Given the description of an element on the screen output the (x, y) to click on. 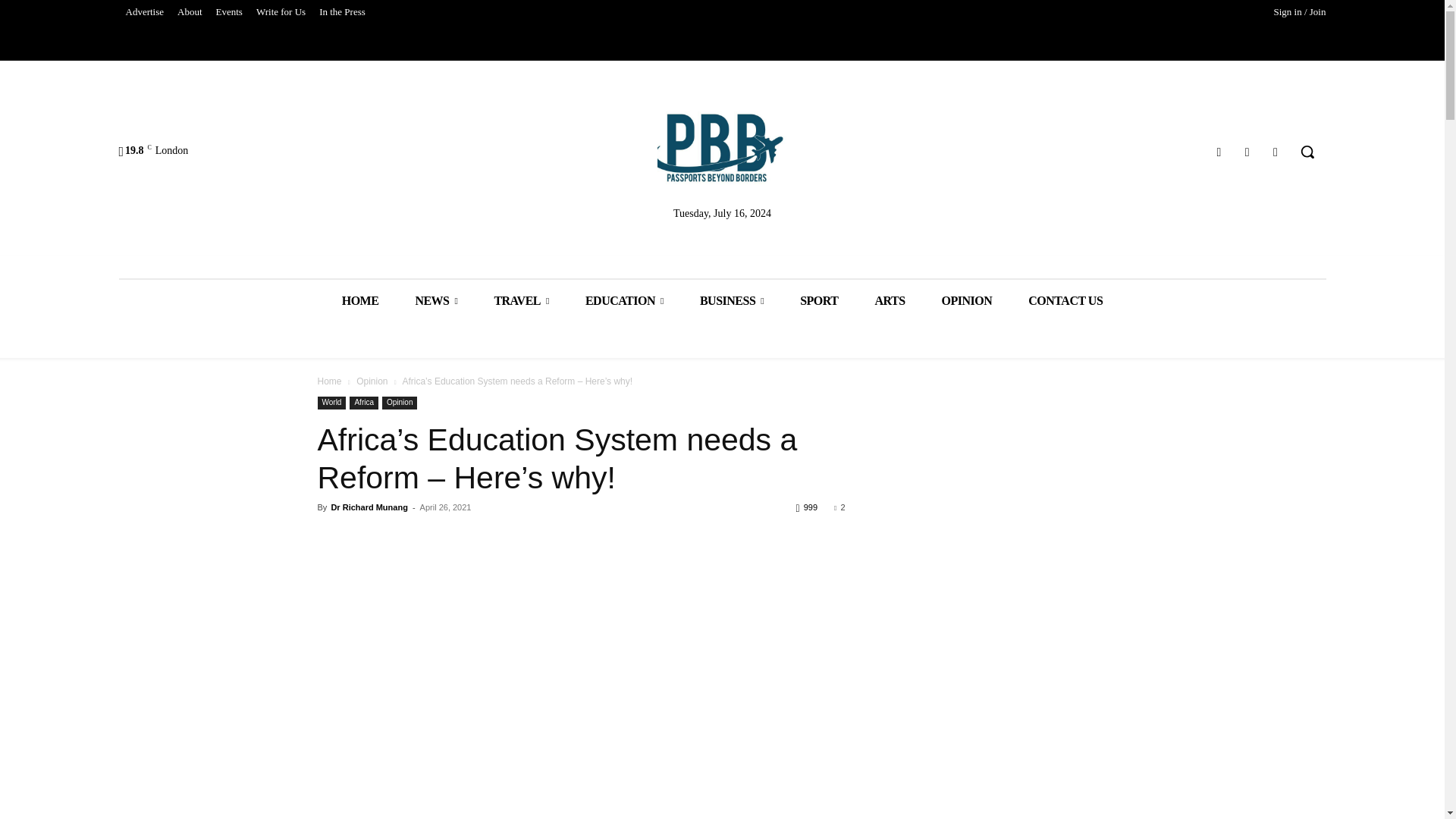
Facebook (1218, 151)
Events (228, 12)
Advertise (143, 12)
In the Press (342, 12)
Youtube (1275, 151)
NEWS (436, 300)
HOME (360, 300)
Twitter (1246, 151)
About (189, 12)
Write for Us (280, 12)
